Given the description of an element on the screen output the (x, y) to click on. 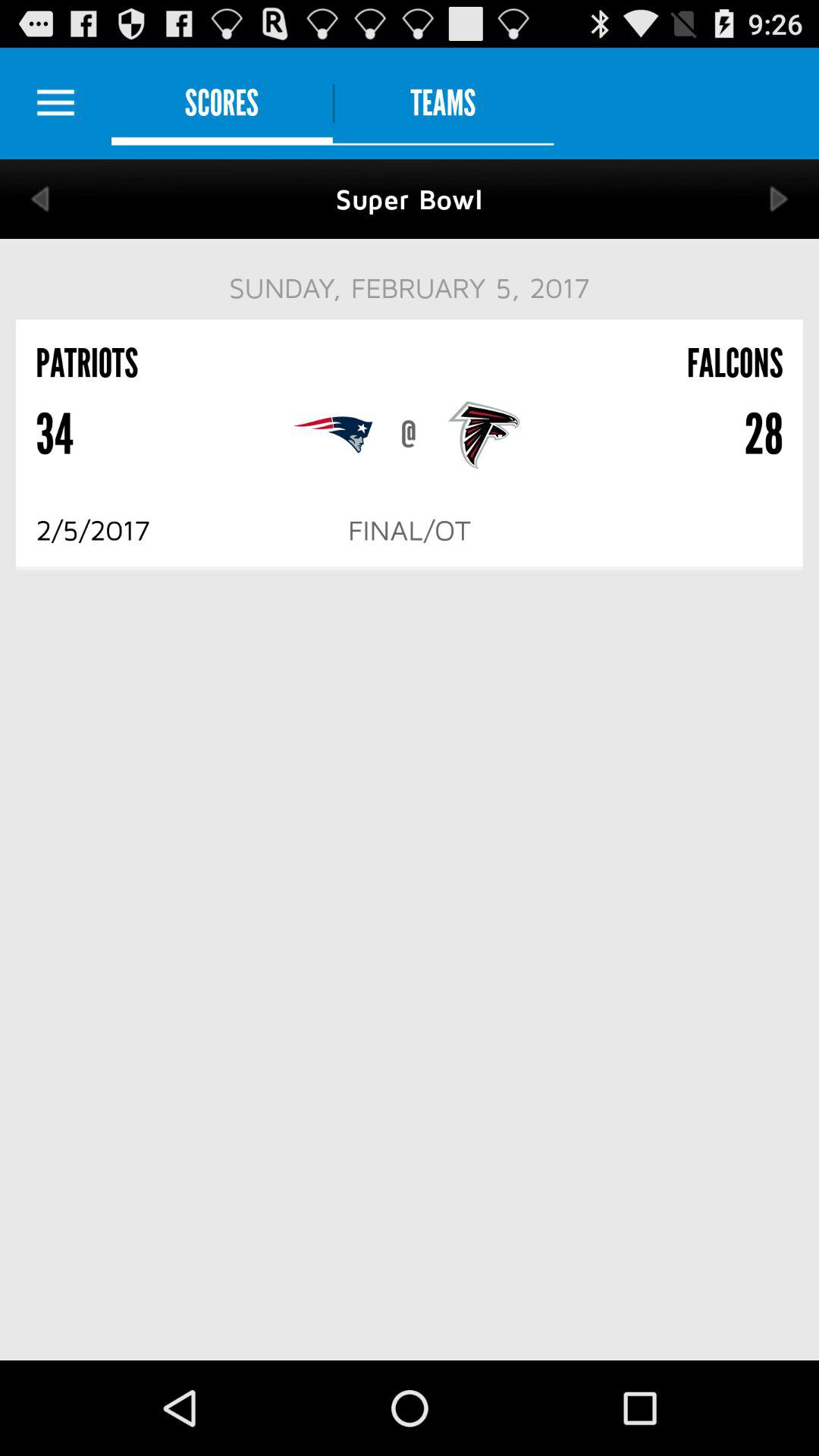
back to previous score (39, 198)
